Given the description of an element on the screen output the (x, y) to click on. 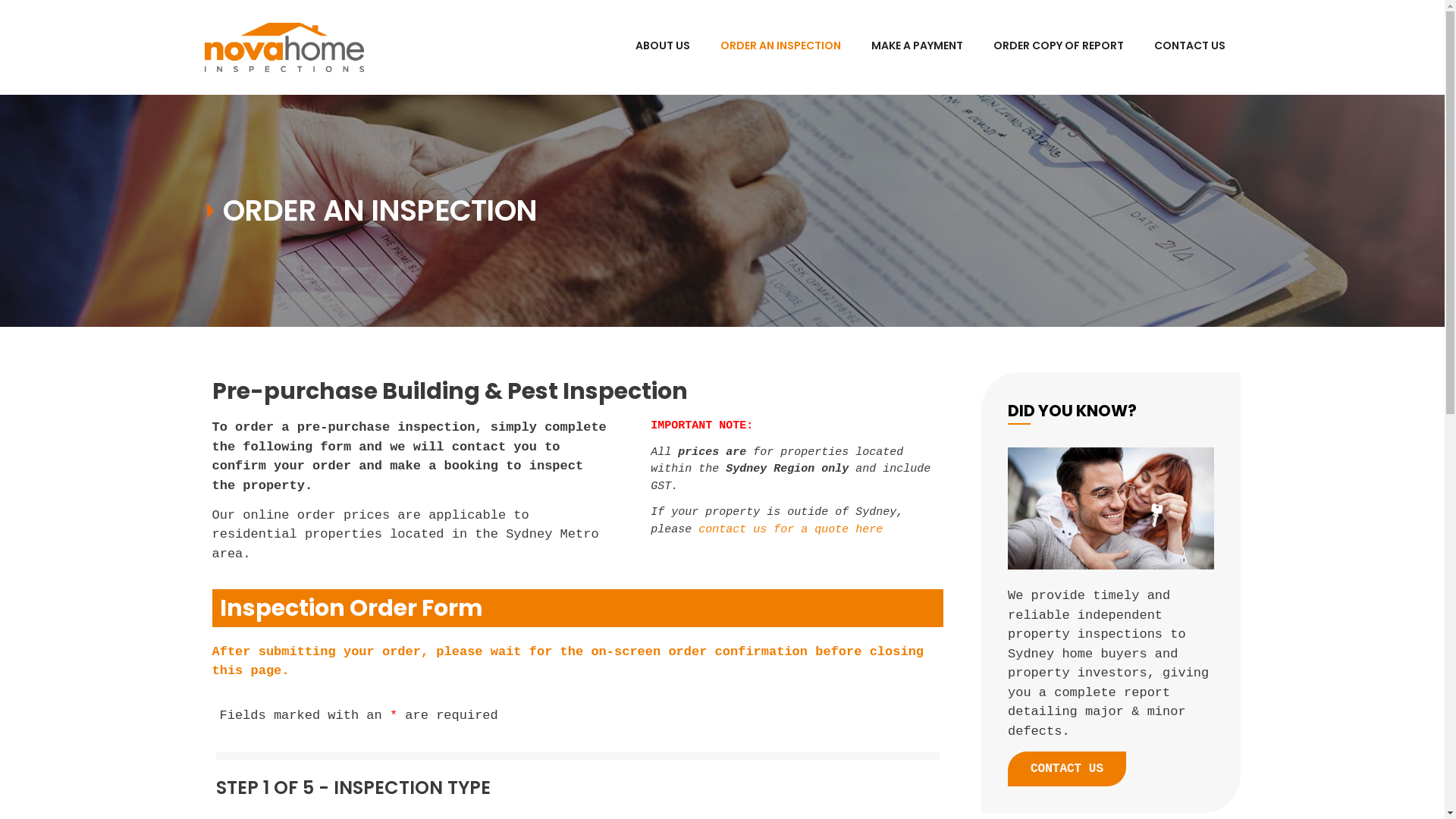
CONTACT US Element type: text (1066, 768)
ORDER COPY OF REPORT Element type: text (1058, 45)
contact us for a quote here Element type: text (790, 529)
ORDER AN INSPECTION Element type: text (780, 45)
MAKE A PAYMENT Element type: text (916, 45)
CONTACT US Element type: text (1189, 45)
ABOUT US Element type: text (662, 45)
